Given the description of an element on the screen output the (x, y) to click on. 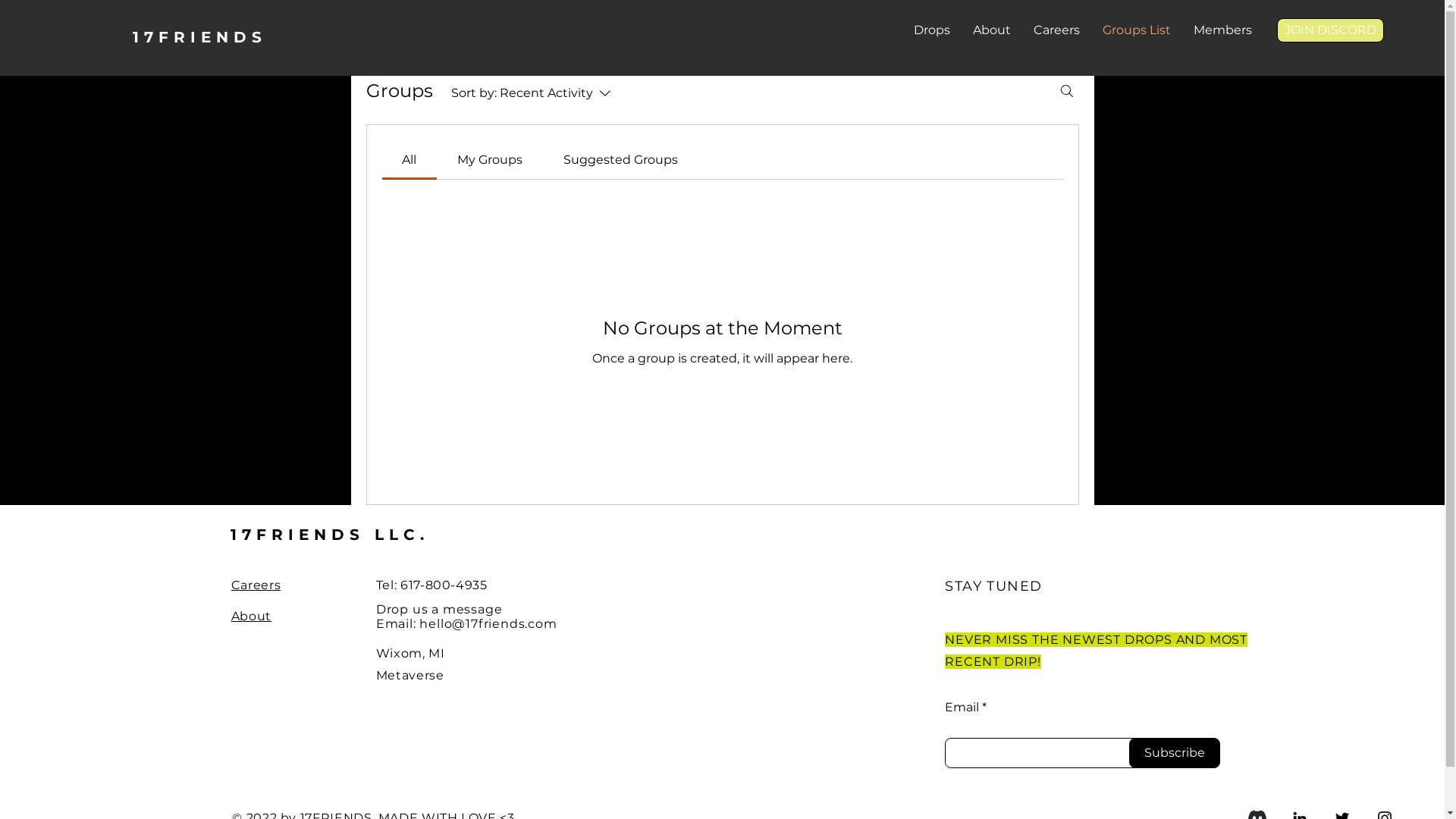
Subscribe Element type: text (1174, 752)
Sort by:
Recent Activity Element type: text (533, 92)
17FRIENDS LLC. Element type: text (329, 534)
JOIN DISCORD Element type: text (1330, 30)
Careers Element type: text (255, 584)
hello@17friends.com Element type: text (487, 623)
About Element type: text (251, 615)
